Given the description of an element on the screen output the (x, y) to click on. 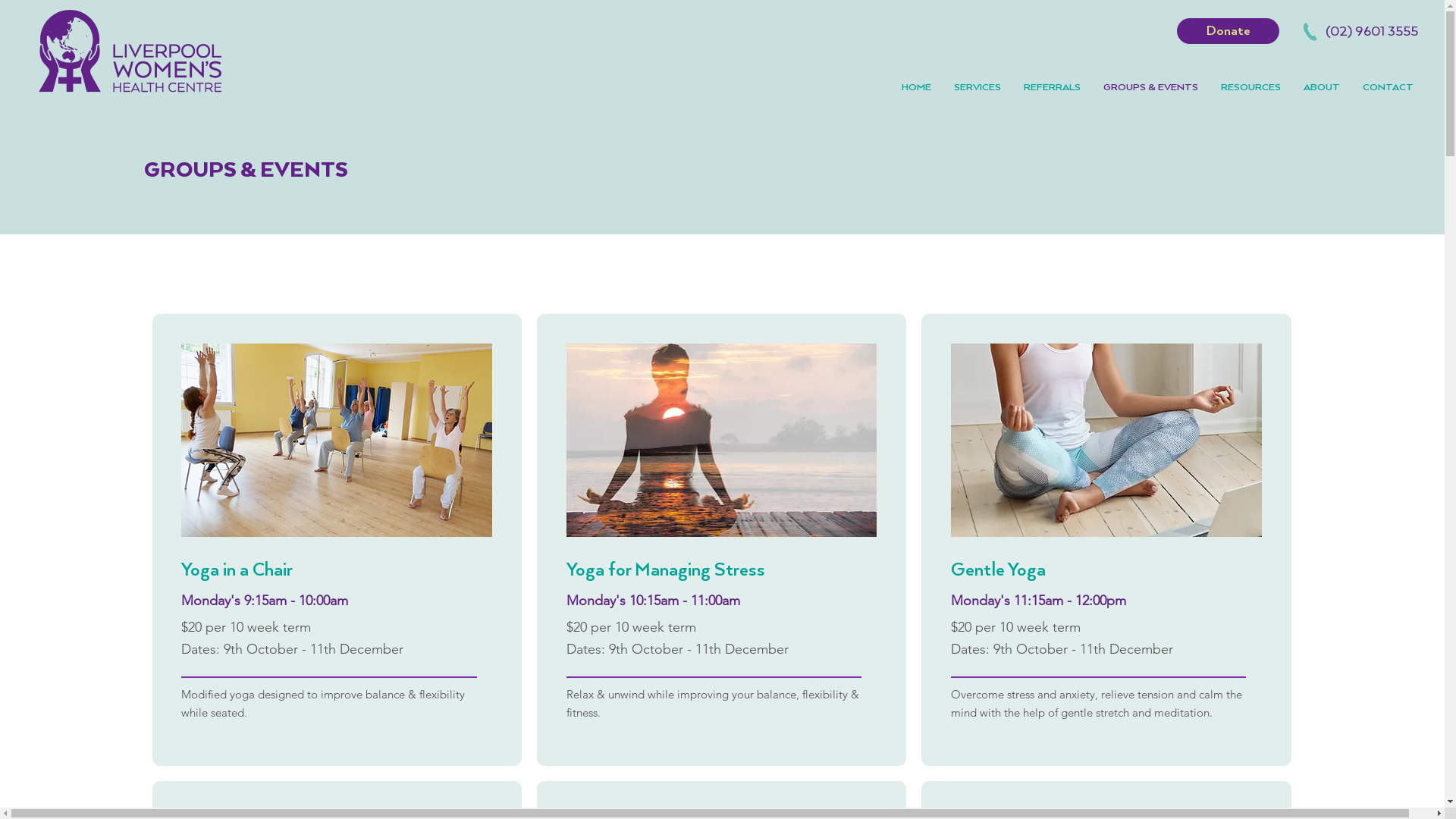
Donate Element type: text (1227, 30)
CONTACT Element type: text (1387, 87)
(02) 9601 3555 Element type: text (1371, 31)
SERVICES Element type: text (977, 87)
RESOURCES Element type: text (1250, 87)
ABOUT Element type: text (1321, 87)
GROUPS & EVENTS Element type: text (1150, 87)
HOME Element type: text (916, 87)
